Given the description of an element on the screen output the (x, y) to click on. 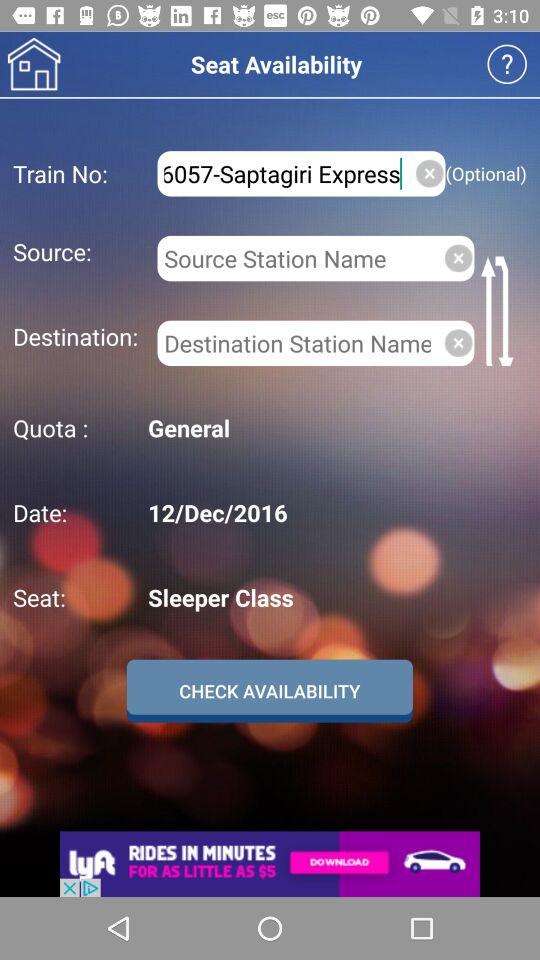
turn off the icon below the general icon (333, 512)
